Given the description of an element on the screen output the (x, y) to click on. 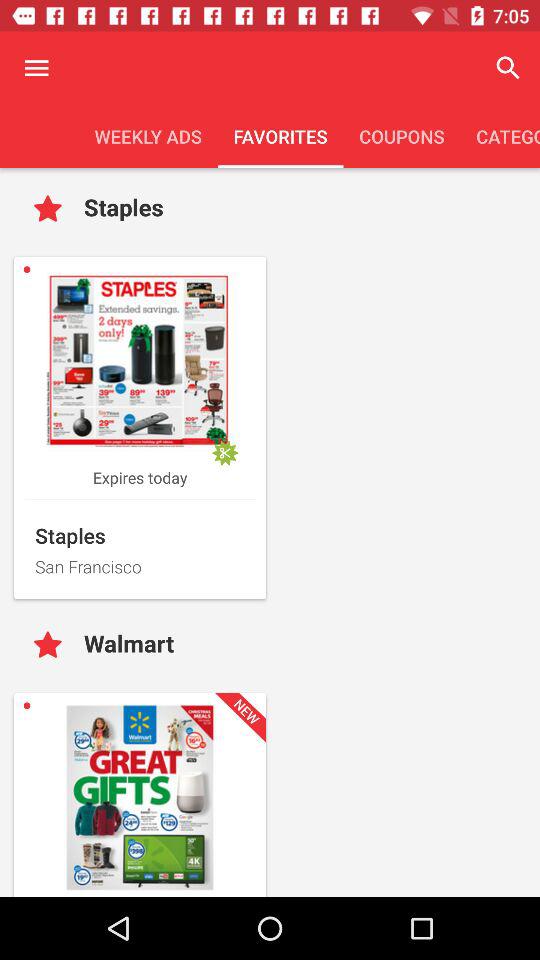
like (52, 645)
